Given the description of an element on the screen output the (x, y) to click on. 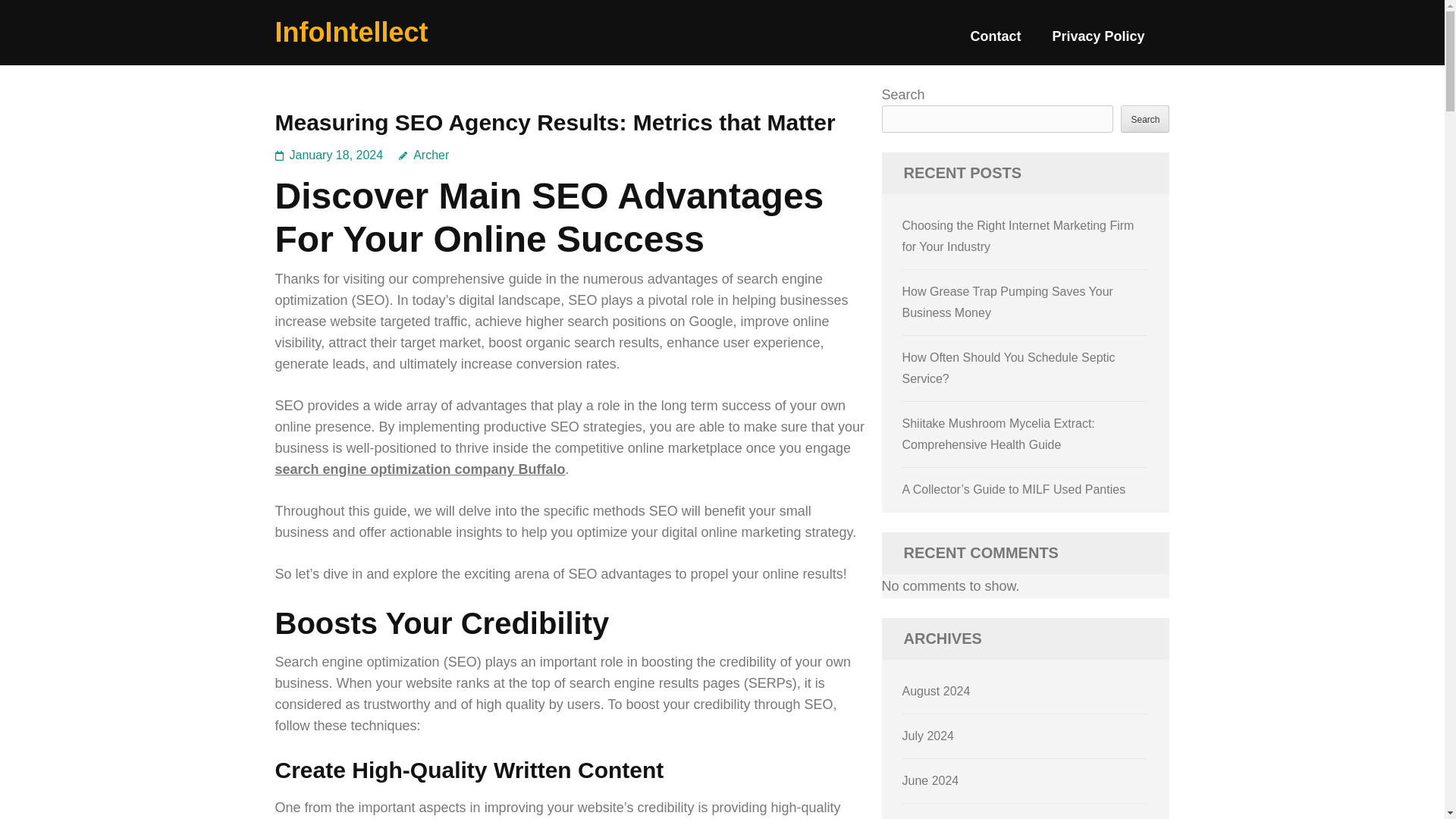
Choosing the Right Internet Marketing Firm for Your Industry (1018, 236)
InfoIntellect (351, 31)
Archer (423, 154)
Privacy Policy (1097, 42)
June 2024 (930, 780)
Contact (994, 42)
Search (1145, 118)
January 18, 2024 (336, 154)
August 2024 (936, 690)
search engine optimization company Buffalo (419, 468)
How Grease Trap Pumping Saves Your Business Money (1007, 302)
How Often Should You Schedule Septic Service? (1008, 367)
July 2024 (928, 735)
